Given the description of an element on the screen output the (x, y) to click on. 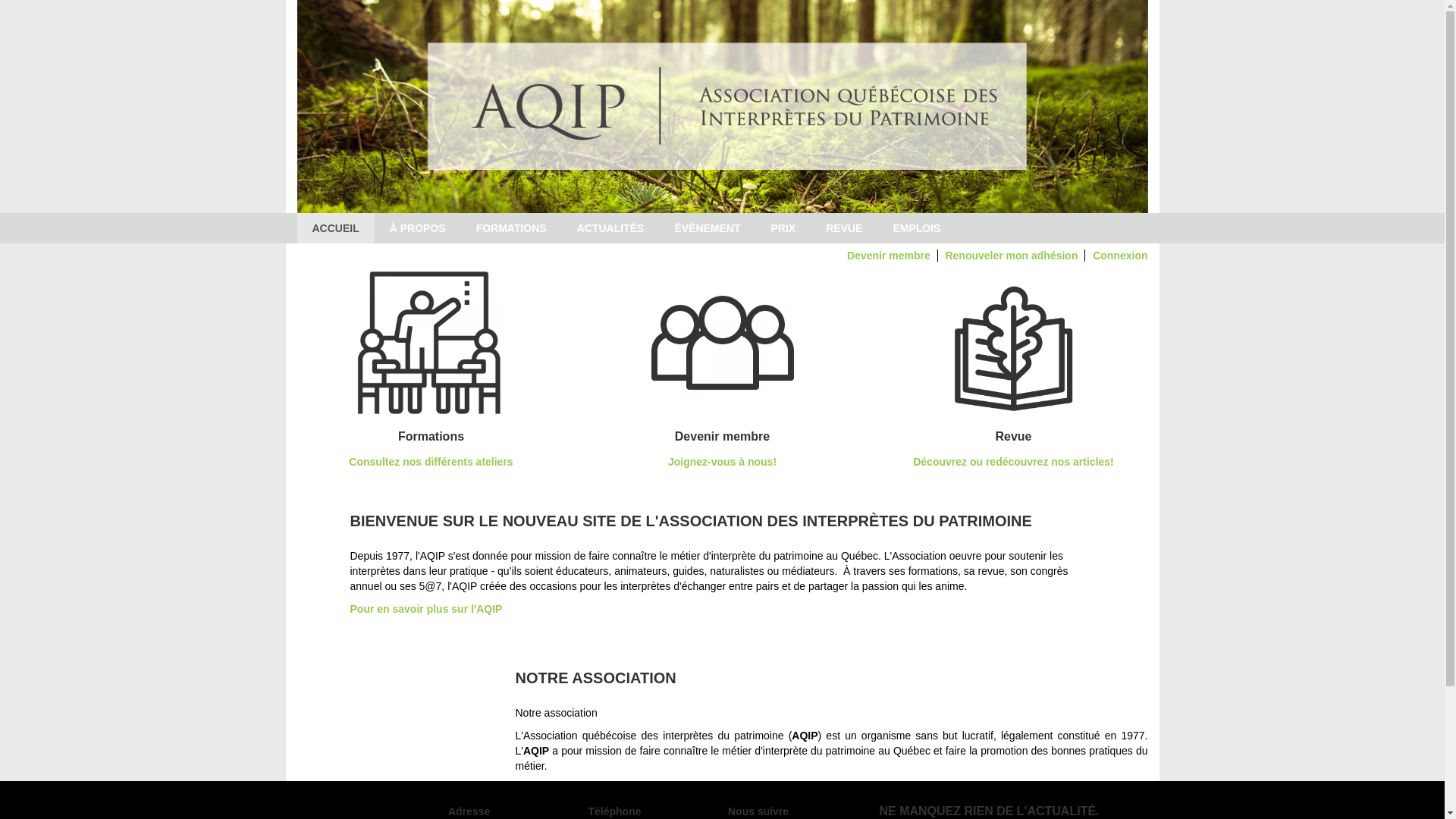
FORMATIONS Element type: text (511, 227)
Pour en savoir plus sur l'AQIP Element type: text (426, 608)
PRIX Element type: text (783, 227)
ACCUEIL Element type: text (335, 227)
REVUE Element type: text (843, 227)
EMPLOIS Element type: text (916, 227)
Connexion Element type: text (1119, 255)
Devenir membre Element type: text (888, 255)
